Given the description of an element on the screen output the (x, y) to click on. 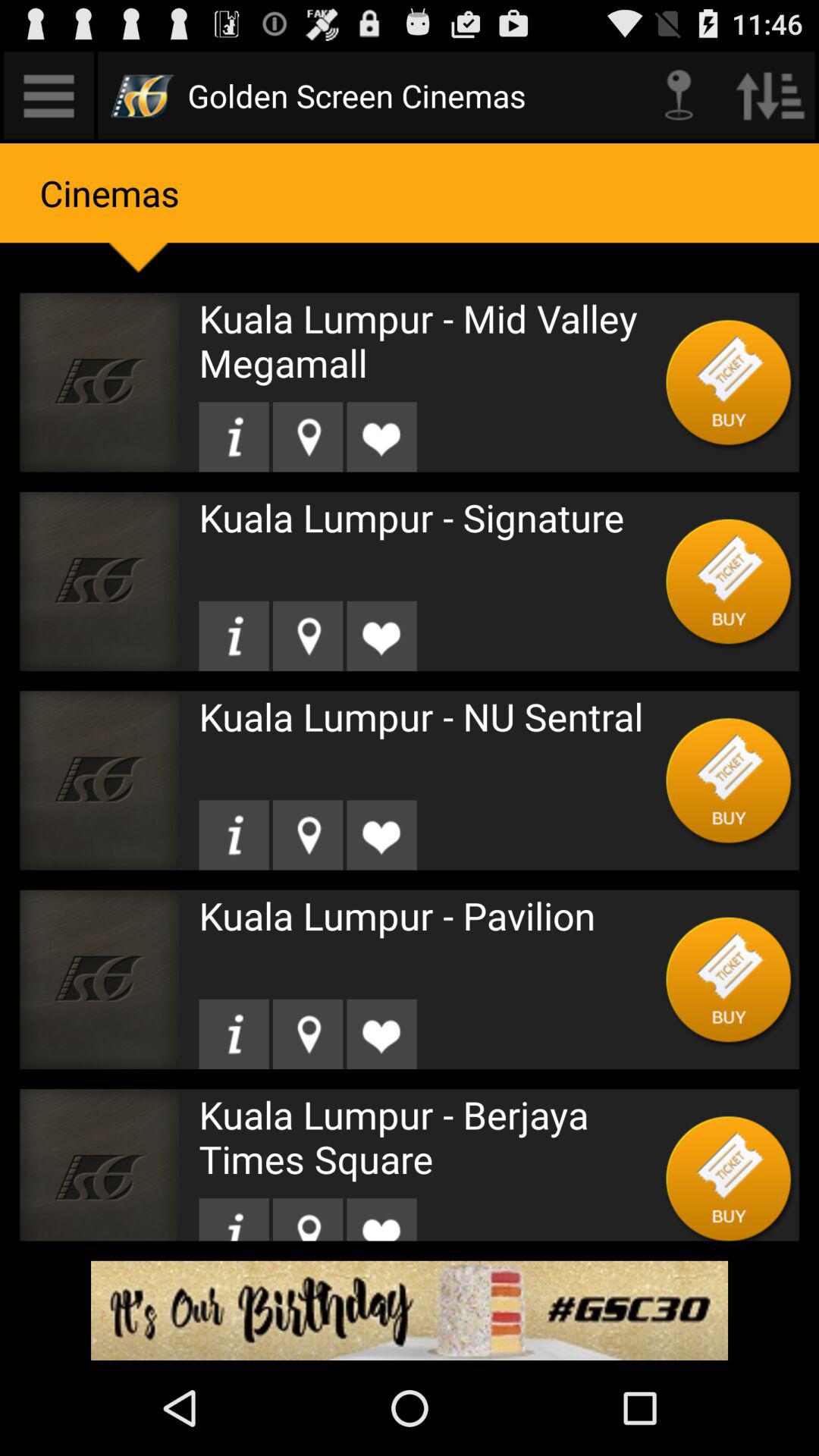
go to details option (234, 437)
